Given the description of an element on the screen output the (x, y) to click on. 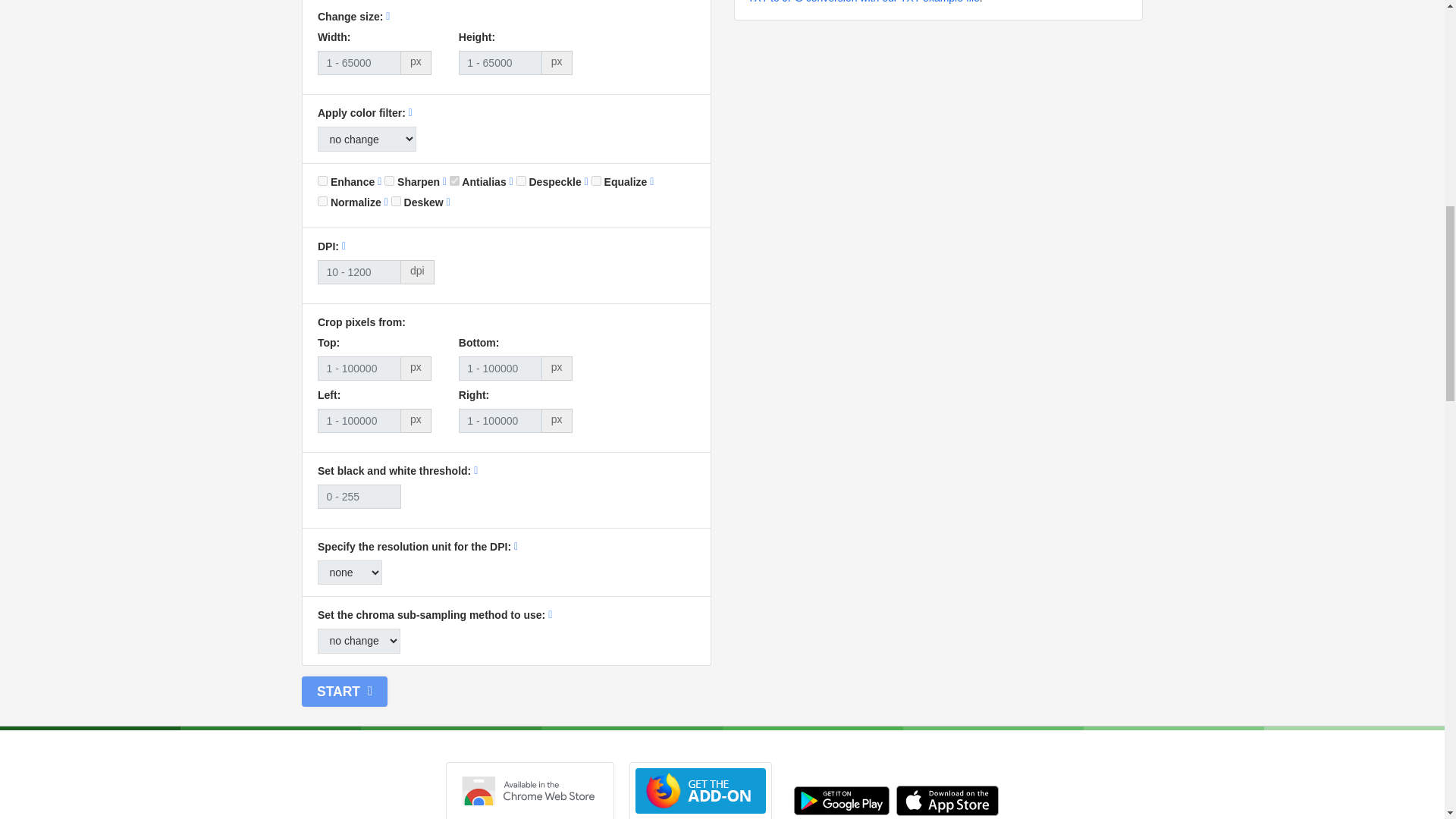
on (396, 201)
on (322, 201)
on (454, 180)
on (389, 180)
on (520, 180)
on (322, 180)
on (596, 180)
